Given the description of an element on the screen output the (x, y) to click on. 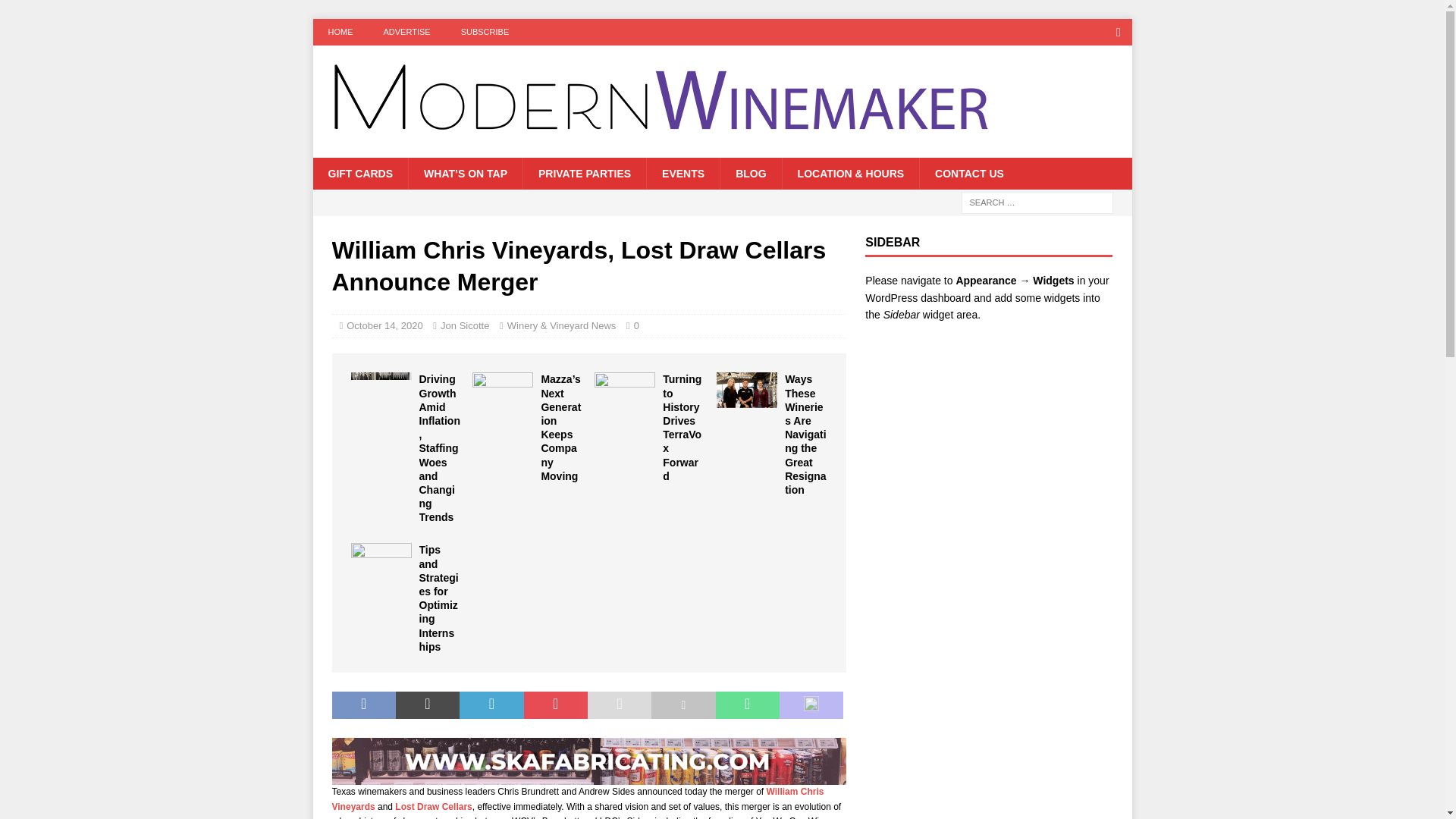
Tweet This Post (428, 705)
Turning to History Drives TerraVox Forward (624, 394)
HOME (340, 31)
CONTACT US (968, 173)
GIFT CARDS (360, 173)
Ways These Wineries Are Navigating the Great Resignation (746, 391)
SUBSCRIBE (484, 31)
BLOG (749, 173)
PRIVATE PARTIES (584, 173)
